Given the description of an element on the screen output the (x, y) to click on. 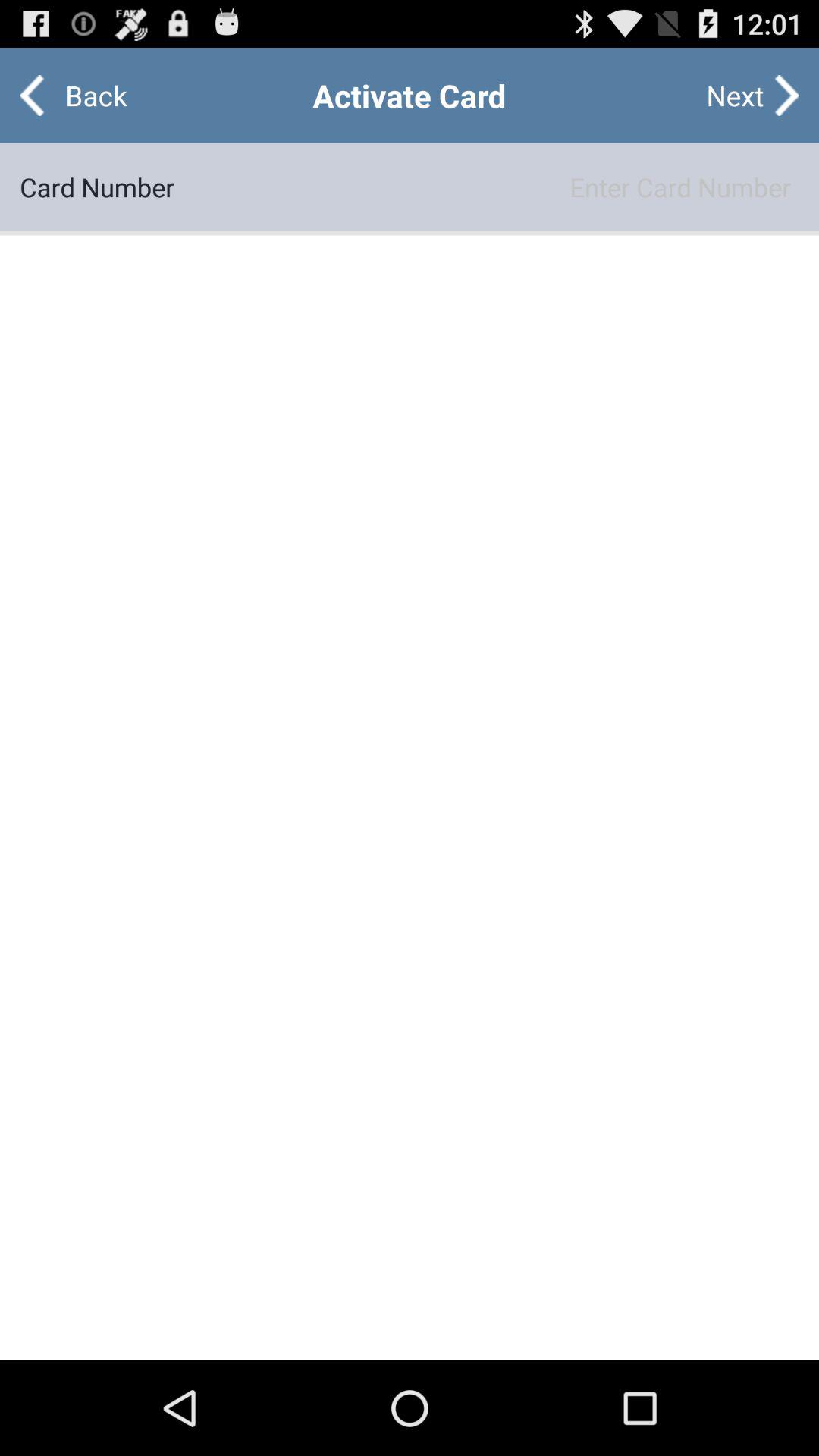
jump until the next icon (735, 95)
